Given the description of an element on the screen output the (x, y) to click on. 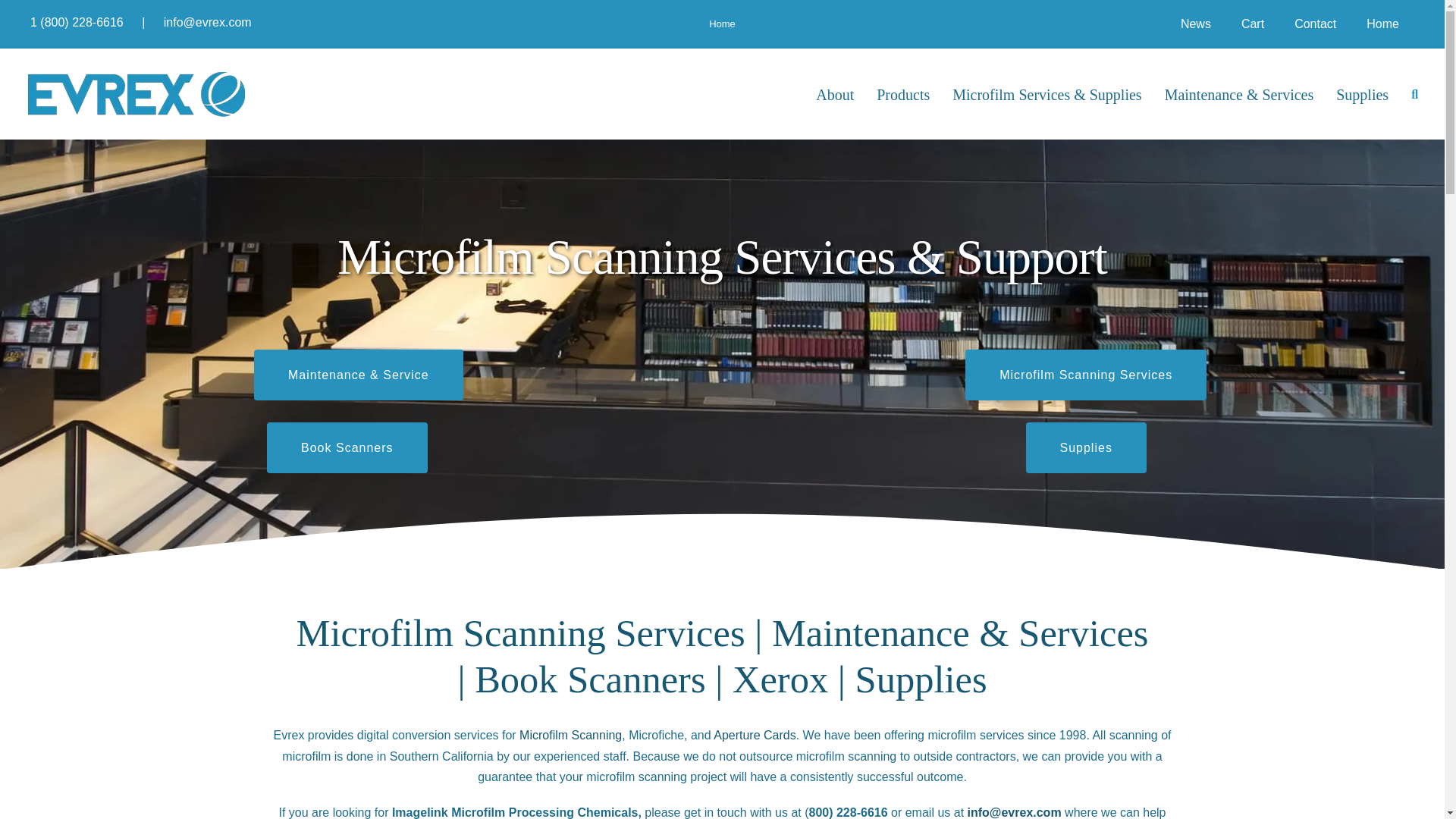
What is a aperture card (754, 735)
About (834, 93)
News (1195, 23)
Mictofilm Scanning (570, 735)
Contact (1315, 23)
Cart (1252, 23)
Search (1414, 93)
Home (1382, 23)
Contact Us (1014, 812)
Products (902, 93)
